Given the description of an element on the screen output the (x, y) to click on. 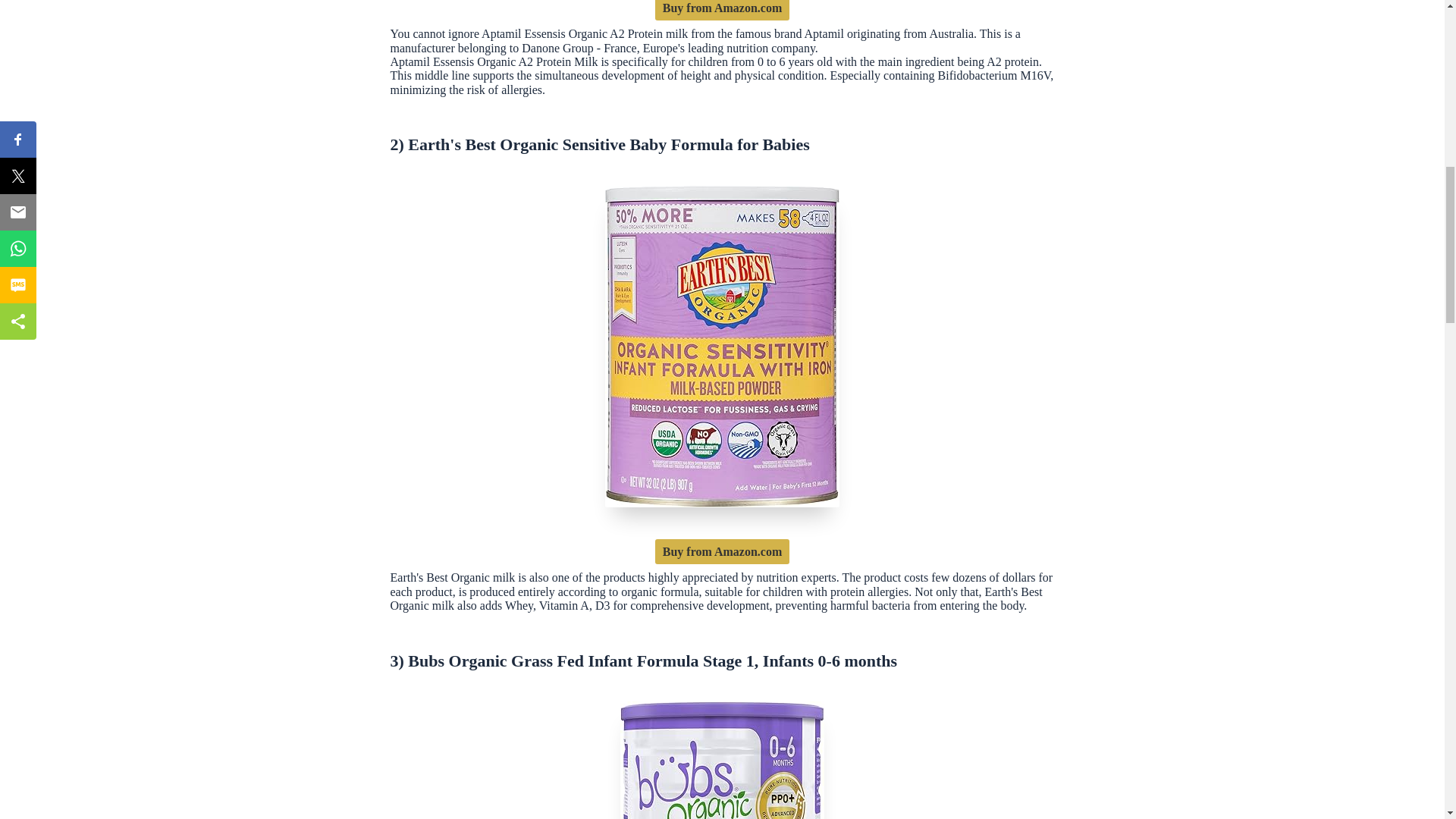
Buy from Amazon.com (722, 10)
Buy from Amazon.com (722, 551)
